Given the description of an element on the screen output the (x, y) to click on. 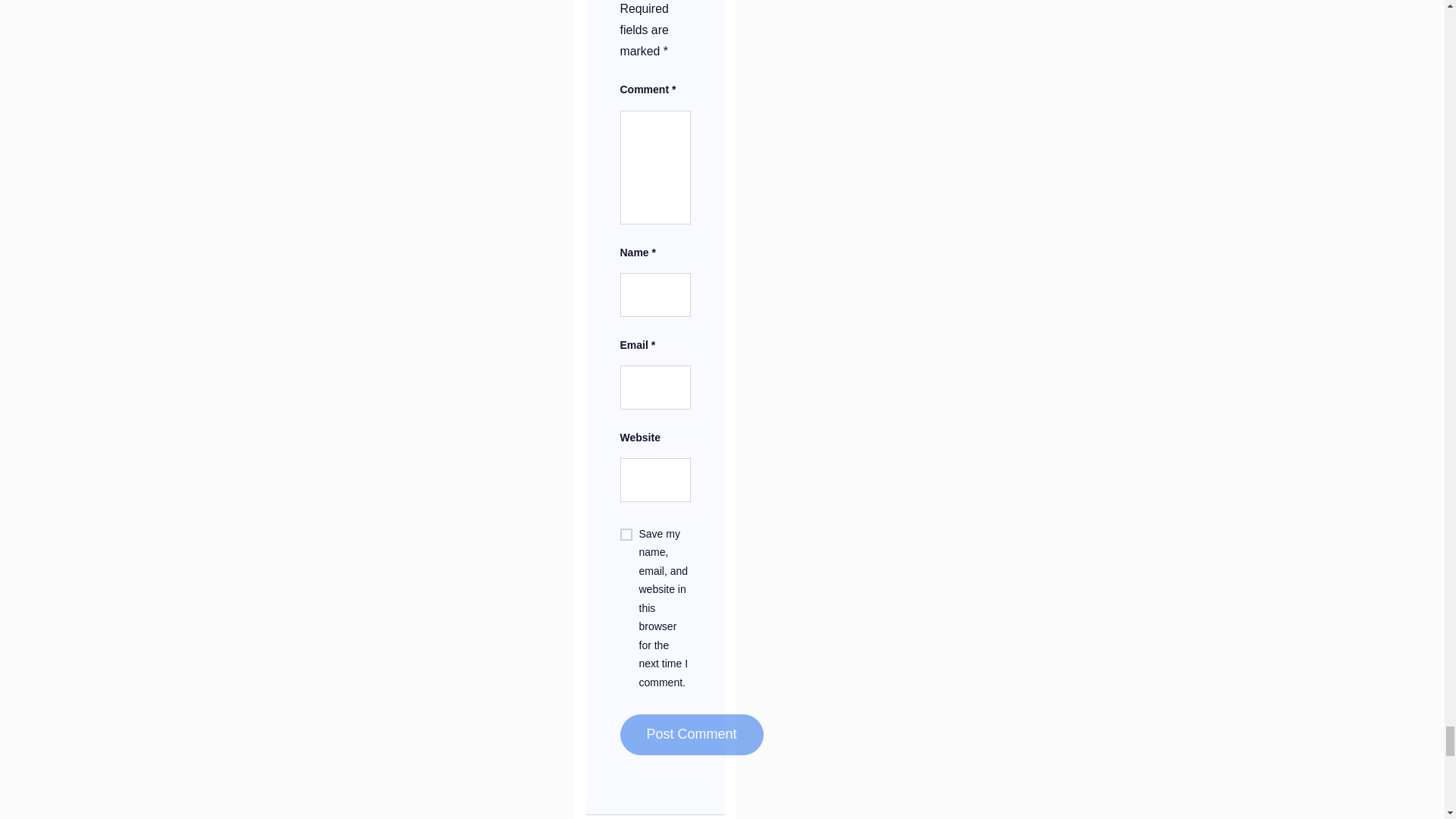
Post Comment (691, 734)
